Given the description of an element on the screen output the (x, y) to click on. 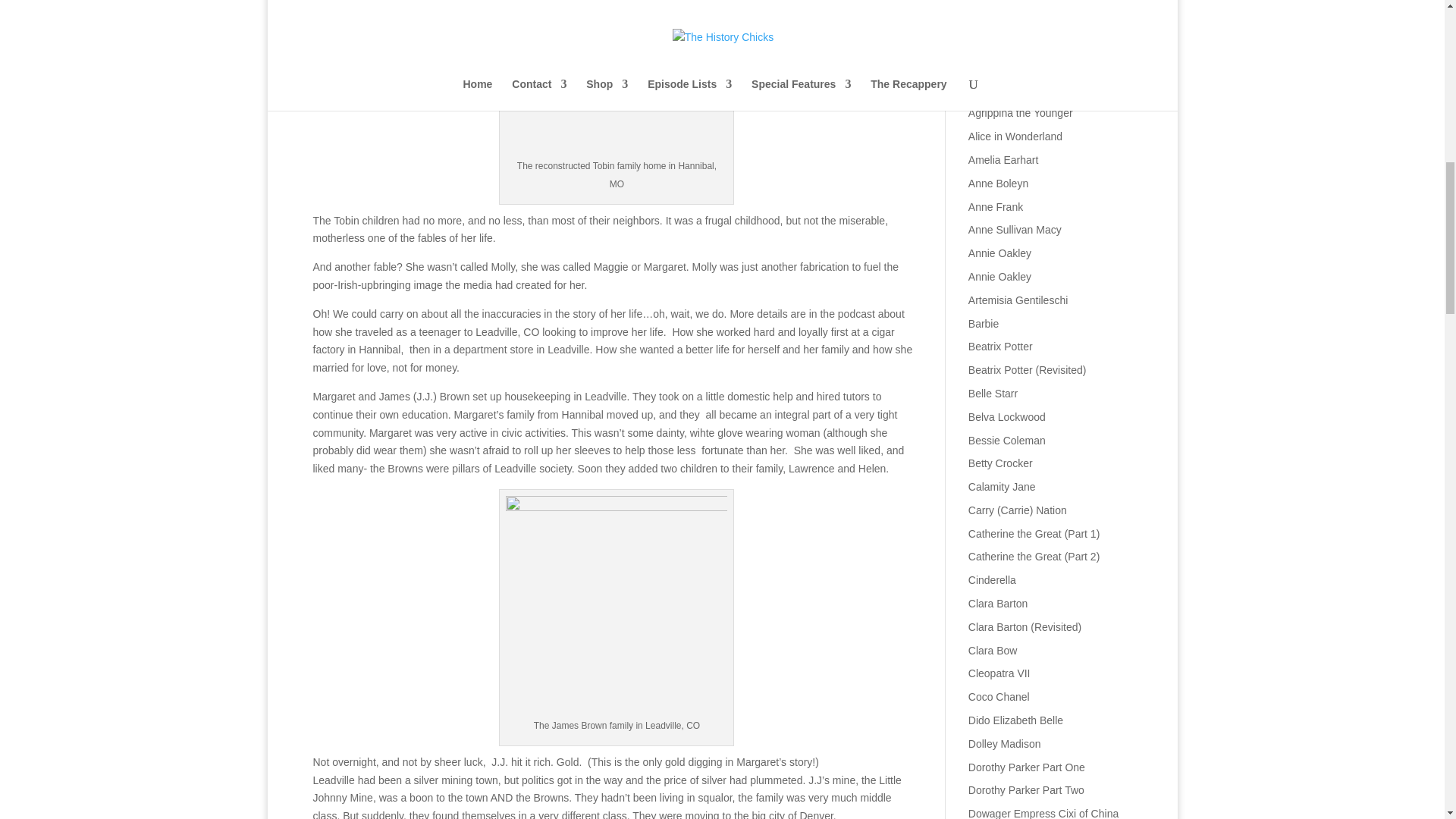
mB house 2 (615, 79)
MB familyredo (615, 606)
